Given the description of an element on the screen output the (x, y) to click on. 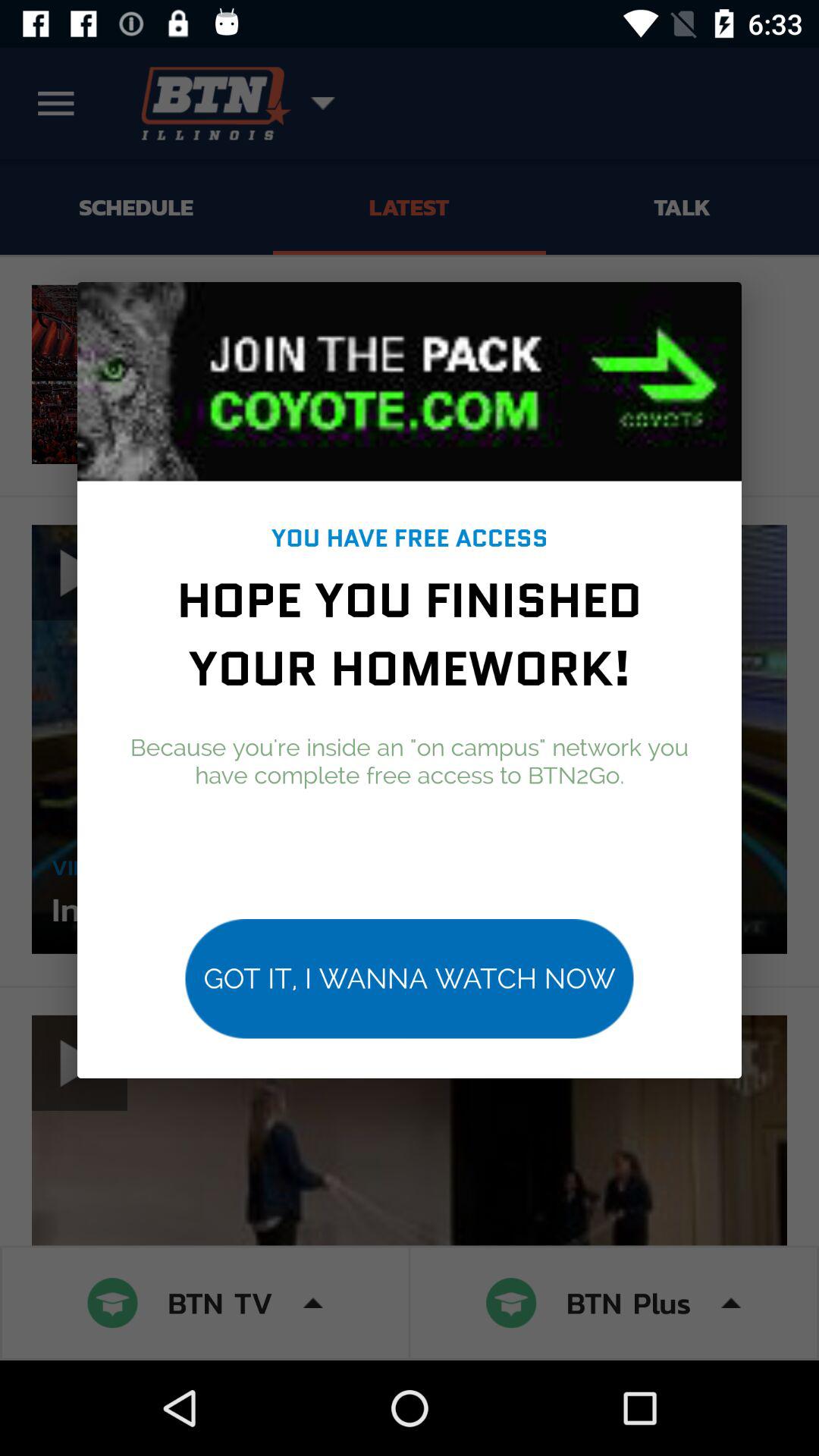
turn on got it i (409, 978)
